Given the description of an element on the screen output the (x, y) to click on. 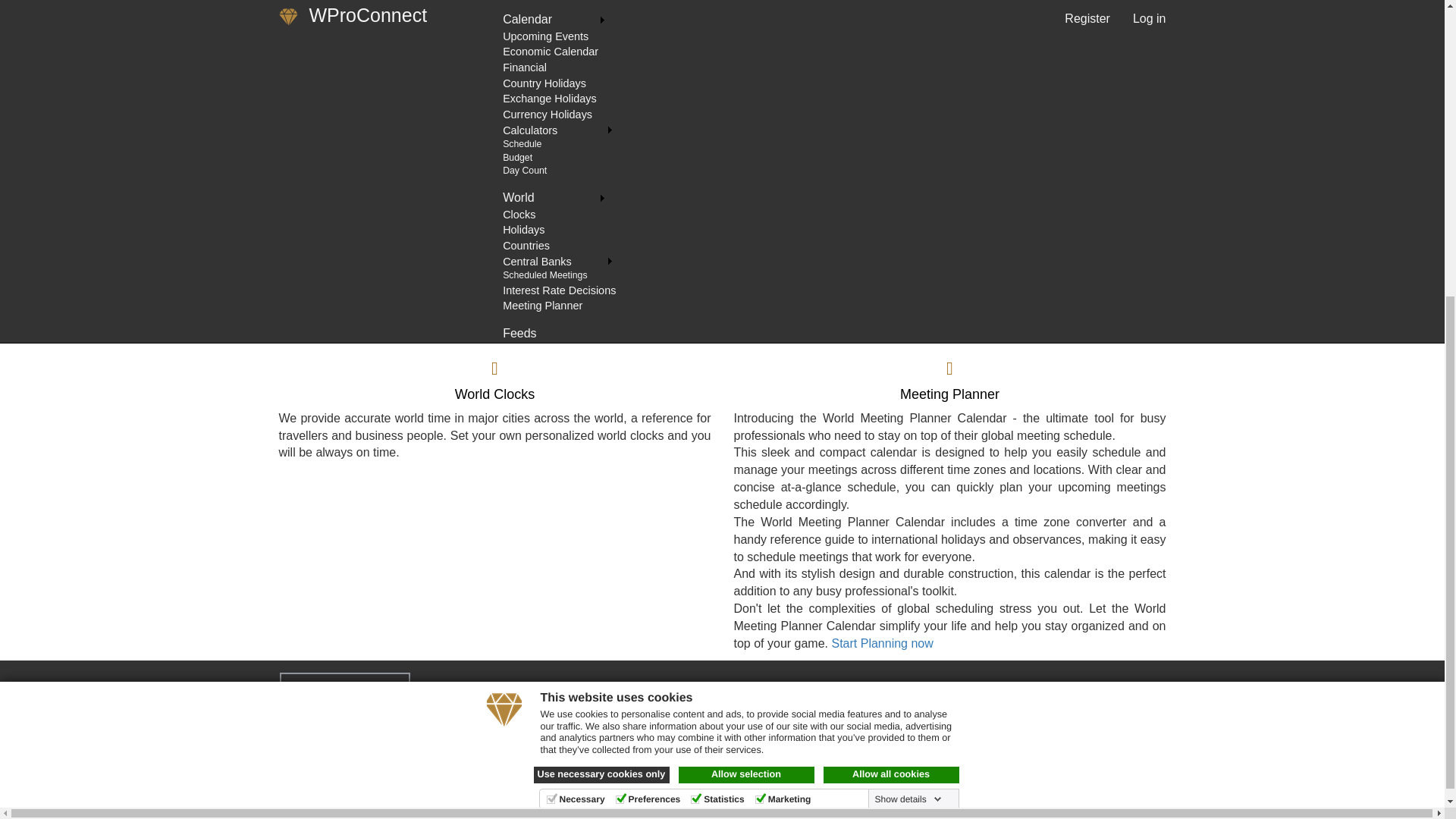
Allow selection (745, 305)
Show details (908, 329)
Use necessary cookies only (601, 305)
Allow all cookies (891, 305)
